Given the description of an element on the screen output the (x, y) to click on. 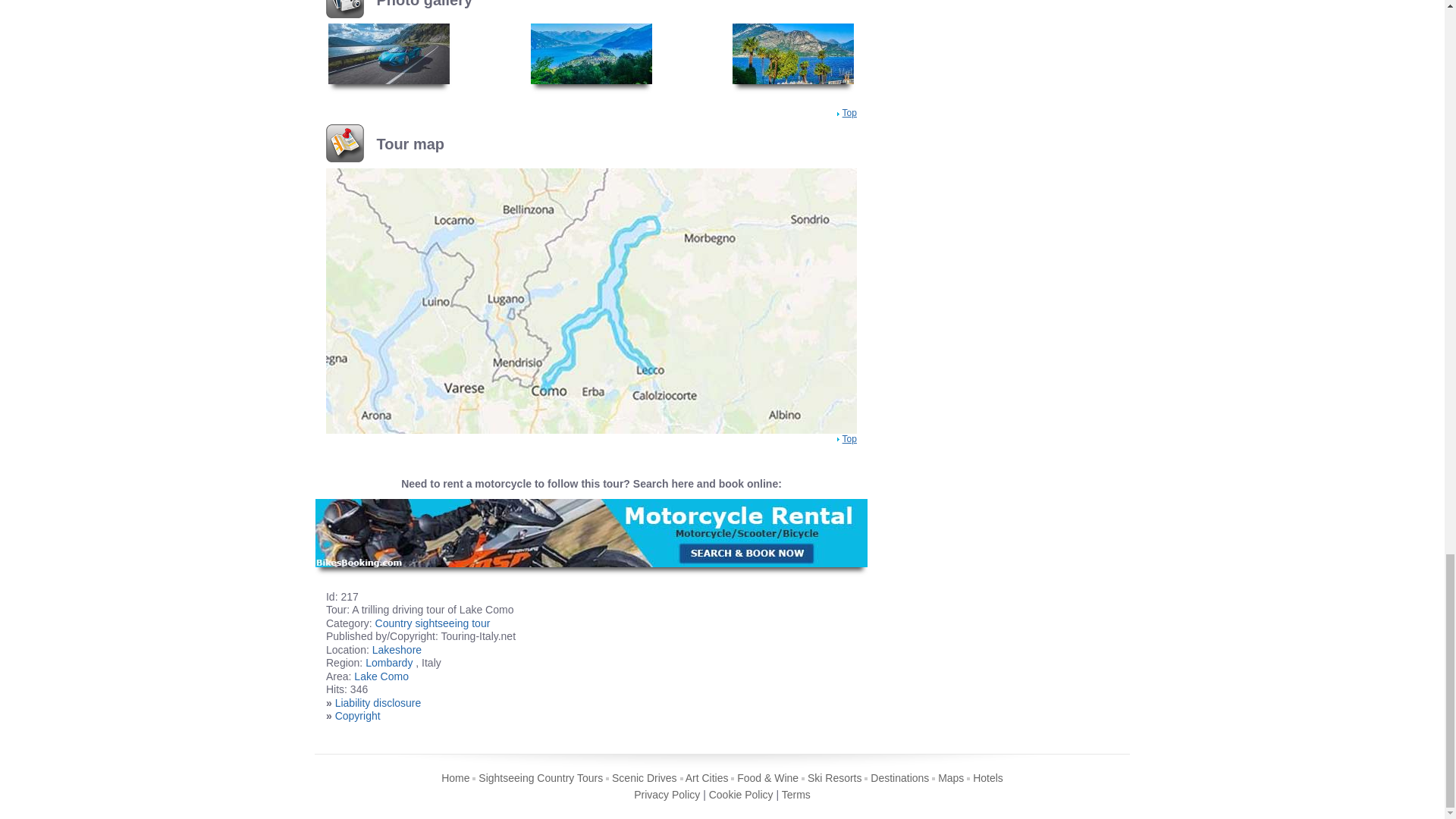
Liability disclosure (378, 702)
Lombardy (388, 662)
Tour in Italy: A trilling driving tour of Lake Como - Pic 1 (389, 52)
Top (850, 112)
Copyright (357, 715)
Lakeshore (397, 649)
Tour in Italy: A trilling driving tour of Lake Como - Pic 3 (792, 52)
Tour in Italy: A trilling driving tour of Lake Como - Pic 2 (591, 52)
Top (850, 439)
Lake Como (381, 676)
